Given the description of an element on the screen output the (x, y) to click on. 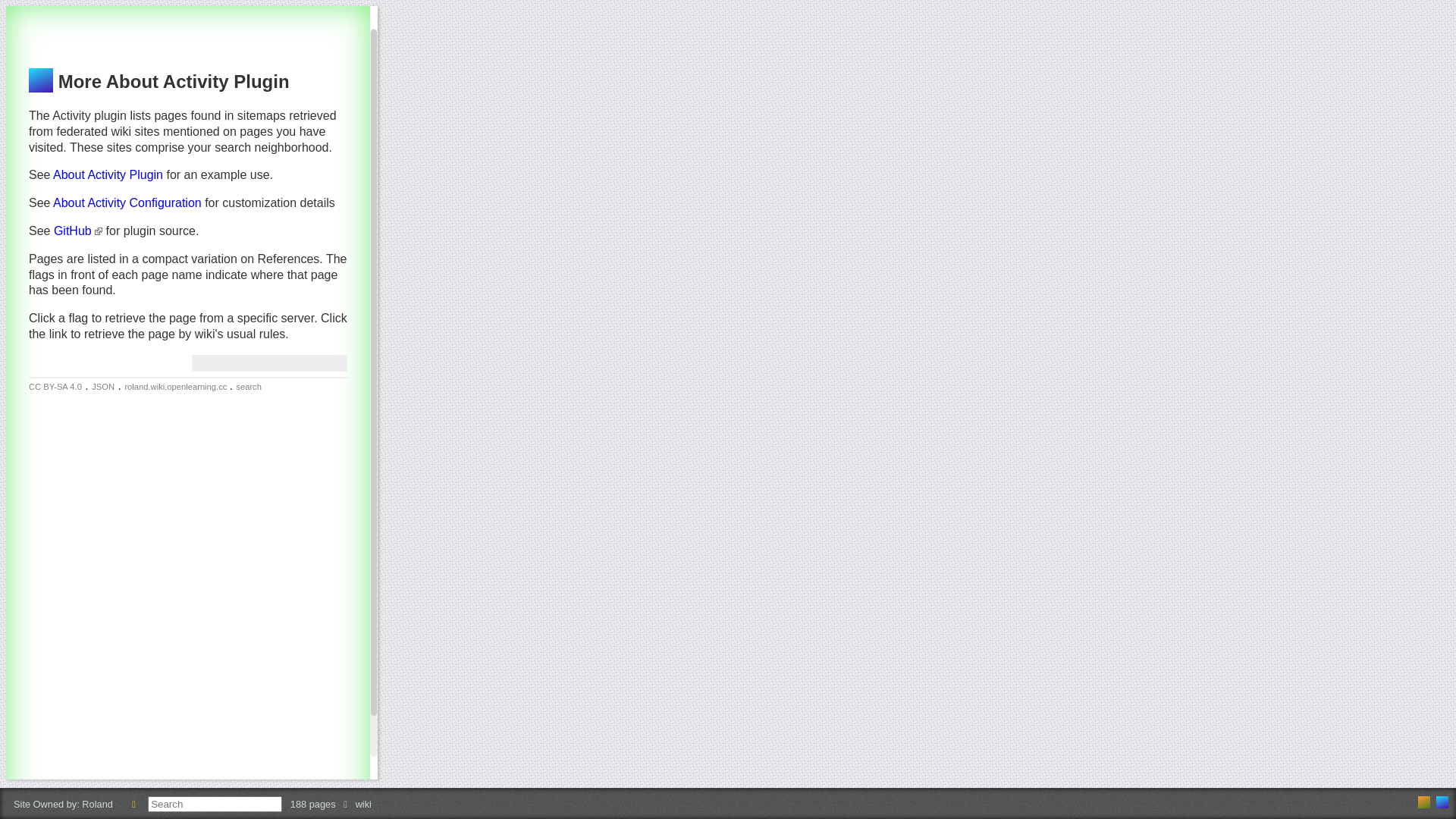
GitHub Element type: text (77, 230)
roland.wiki.openlearning.cc Element type: hover (1442, 802)
search Element type: text (248, 386)
fed.wiki.org Element type: hover (1424, 802)
About Activity Plugin Element type: text (108, 174)
roland.wiki.openlearning.cc Element type: text (176, 386)
CC BY-SA 4.0 Element type: text (54, 386)
Reclaim this Wiki Element type: hover (133, 803)
About Activity Configuration Element type: text (127, 202)
JSON Element type: text (102, 386)
